Given the description of an element on the screen output the (x, y) to click on. 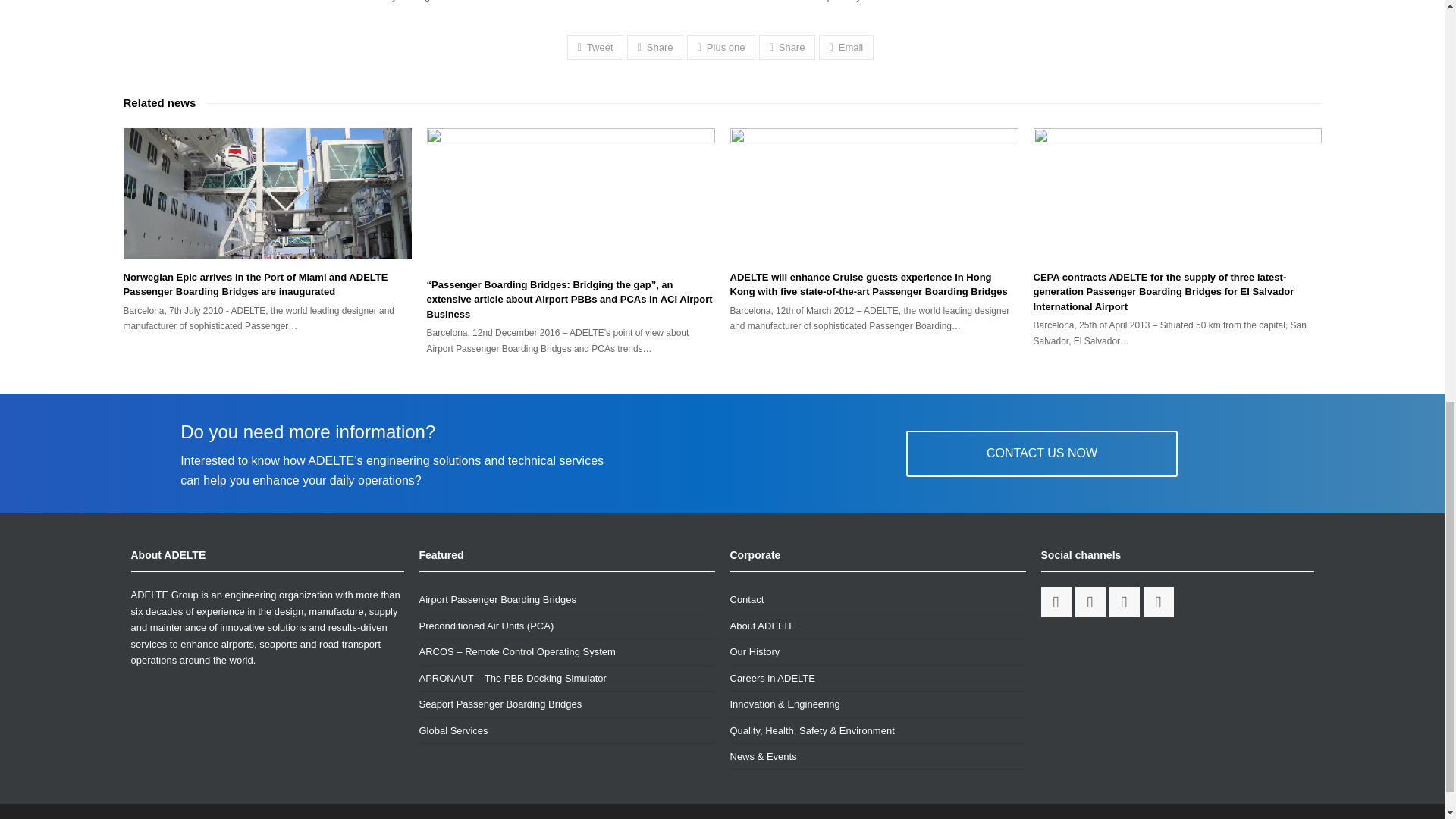
Share (654, 47)
Youtube (1157, 602)
LinkedIn (1123, 602)
Tweet (595, 47)
Twitter (1090, 602)
Facebook (1055, 602)
